Given the description of an element on the screen output the (x, y) to click on. 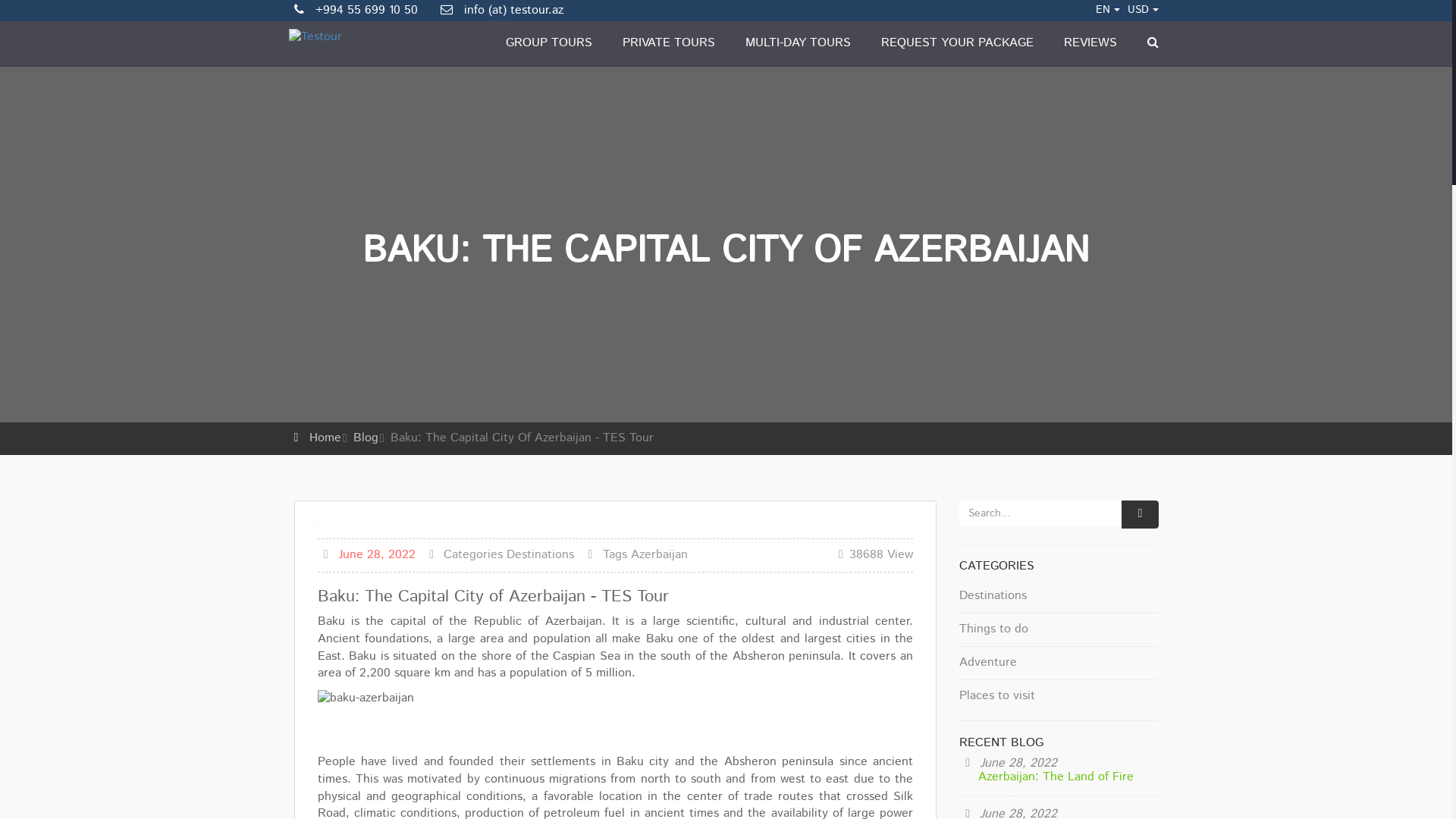
GROUP TOURS Element type: text (548, 42)
USD Element type: text (1141, 9)
Destinations Element type: text (540, 554)
Azerbaijan: The Land of Fire Element type: text (1055, 776)
Things to do Element type: text (1058, 629)
Azerbaijan Element type: text (658, 554)
Destinations Element type: text (1058, 596)
REQUEST YOUR PACKAGE Element type: text (957, 42)
Places to visit Element type: text (1058, 692)
Blog Element type: text (365, 437)
MULTI-DAY TOURS Element type: text (797, 42)
EN Element type: text (1107, 9)
Adventure Element type: text (1058, 663)
   +994 55 699 10 50 Element type: text (357, 9)
Home Element type: text (325, 437)
REVIEWS Element type: text (1089, 42)
PRIVATE TOURS Element type: text (667, 42)
   info (at) testour.az Element type: text (500, 9)
